Given the description of an element on the screen output the (x, y) to click on. 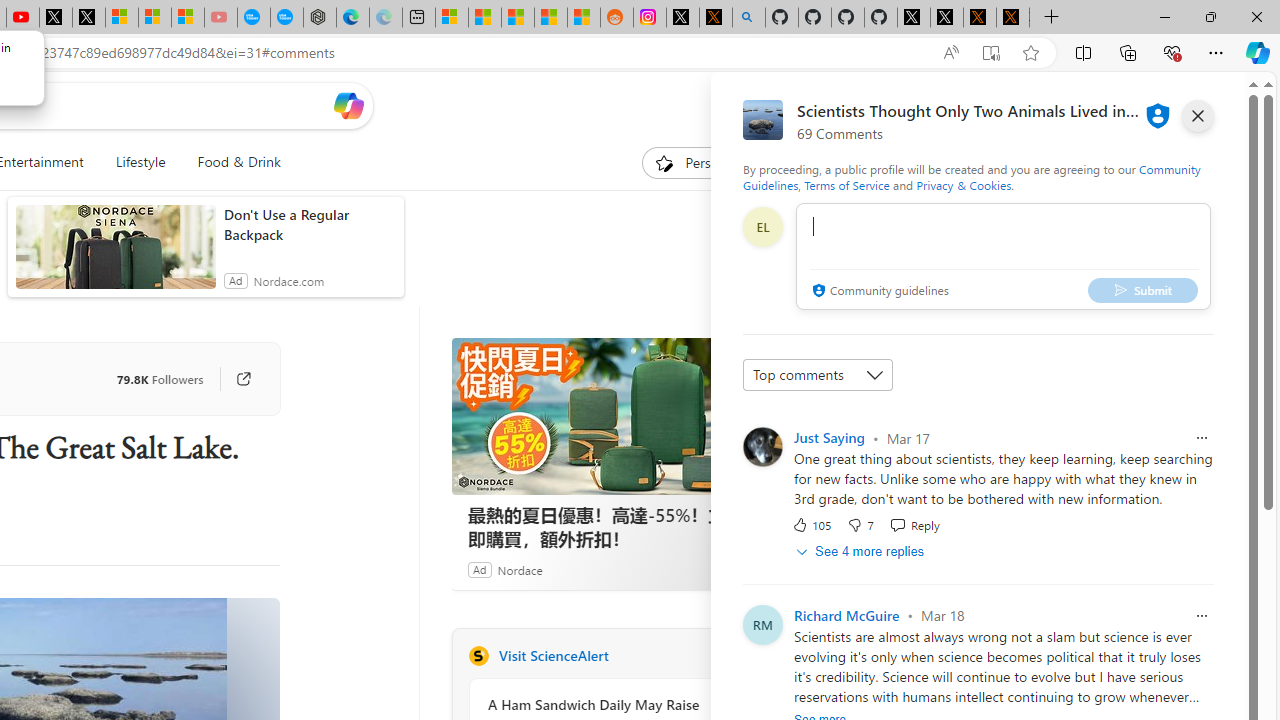
Gloom - YouTube - Sleeping (220, 17)
